Given the description of an element on the screen output the (x, y) to click on. 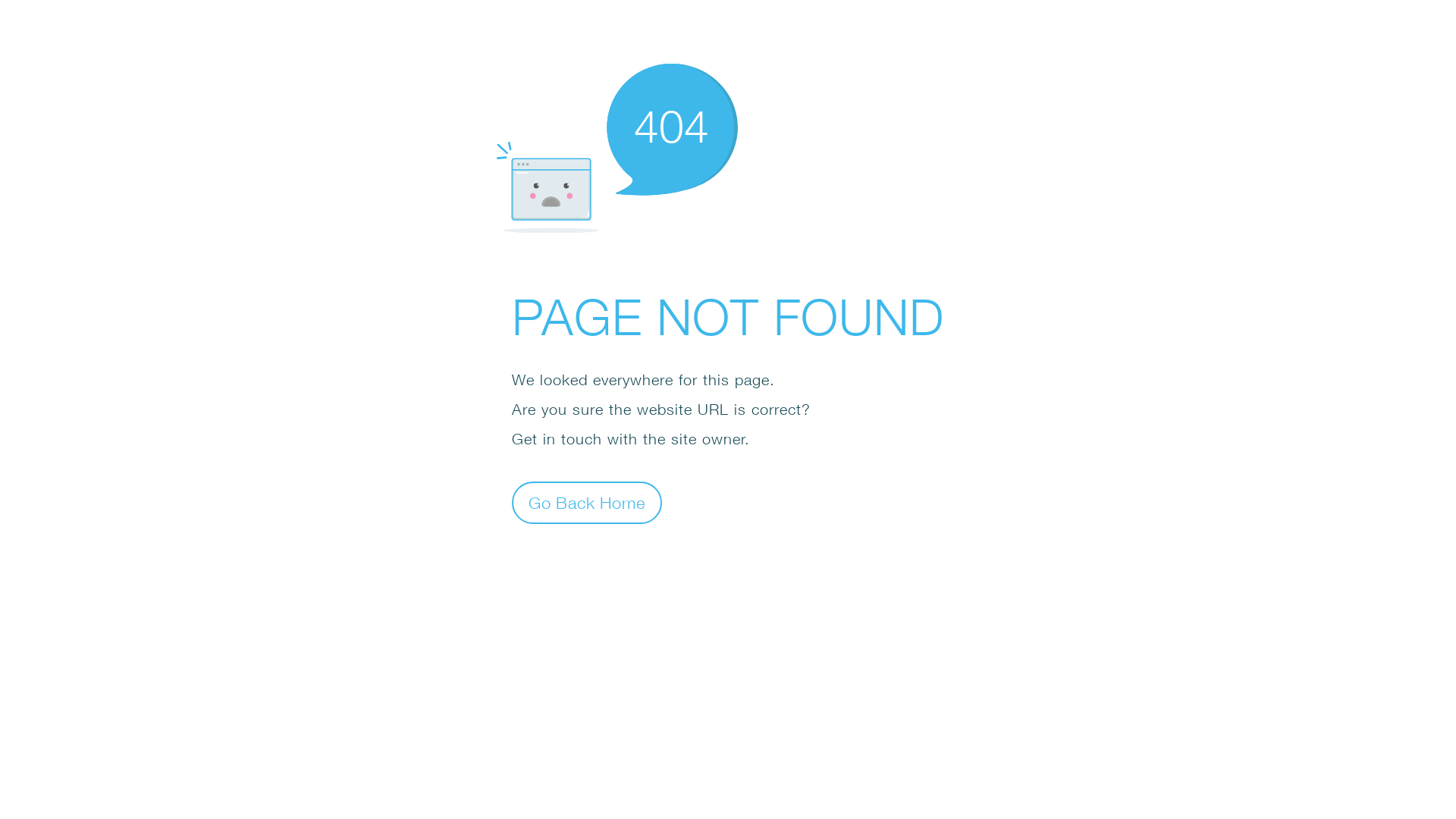
Go Back Home Element type: text (586, 502)
